Given the description of an element on the screen output the (x, y) to click on. 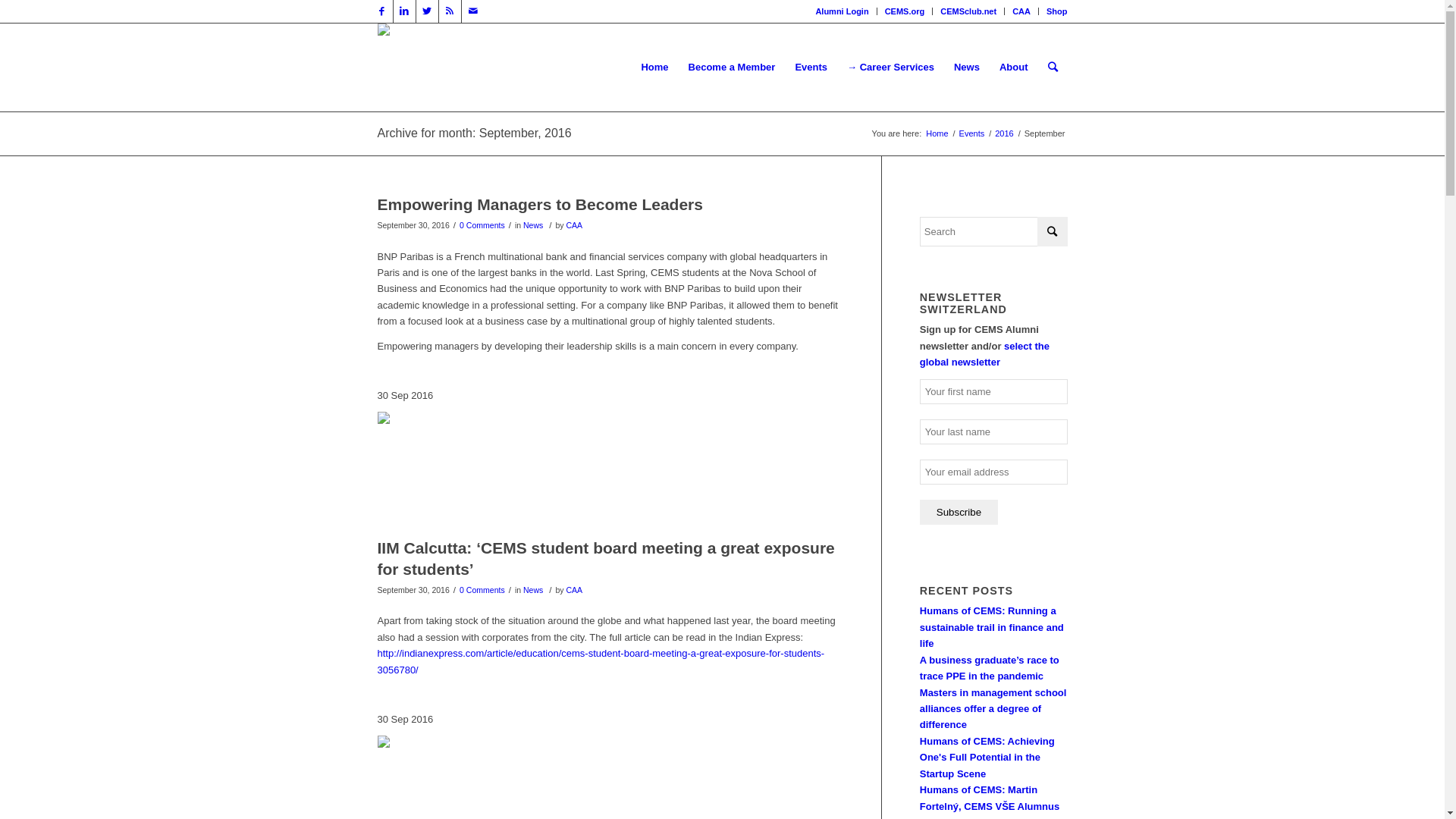
Events Element type: text (810, 67)
CEMS.org Element type: text (904, 11)
Twitter Element type: hover (426, 11)
CEMSclub.net Element type: text (968, 11)
Events Element type: text (972, 133)
LinkedIn Element type: hover (403, 11)
0 Comments Element type: text (482, 224)
News Element type: text (532, 224)
Rss Element type: hover (449, 11)
Alumni Login Element type: text (841, 11)
select the global newsletter Element type: text (984, 353)
Home Element type: text (653, 67)
CAA Element type: text (1021, 11)
Become a Member Element type: text (731, 67)
News Element type: text (532, 589)
News Element type: text (966, 67)
Shop Element type: text (1056, 11)
Subscribe Element type: text (958, 511)
0 Comments Element type: text (482, 589)
Facebook Element type: hover (381, 11)
2016 Element type: text (1003, 133)
Home Element type: text (936, 133)
CAA Element type: text (574, 589)
Empowering Managers to Become Leaders Element type: text (539, 204)
Mail Element type: hover (472, 11)
CAA Element type: text (574, 224)
About Element type: text (1013, 67)
